Given the description of an element on the screen output the (x, y) to click on. 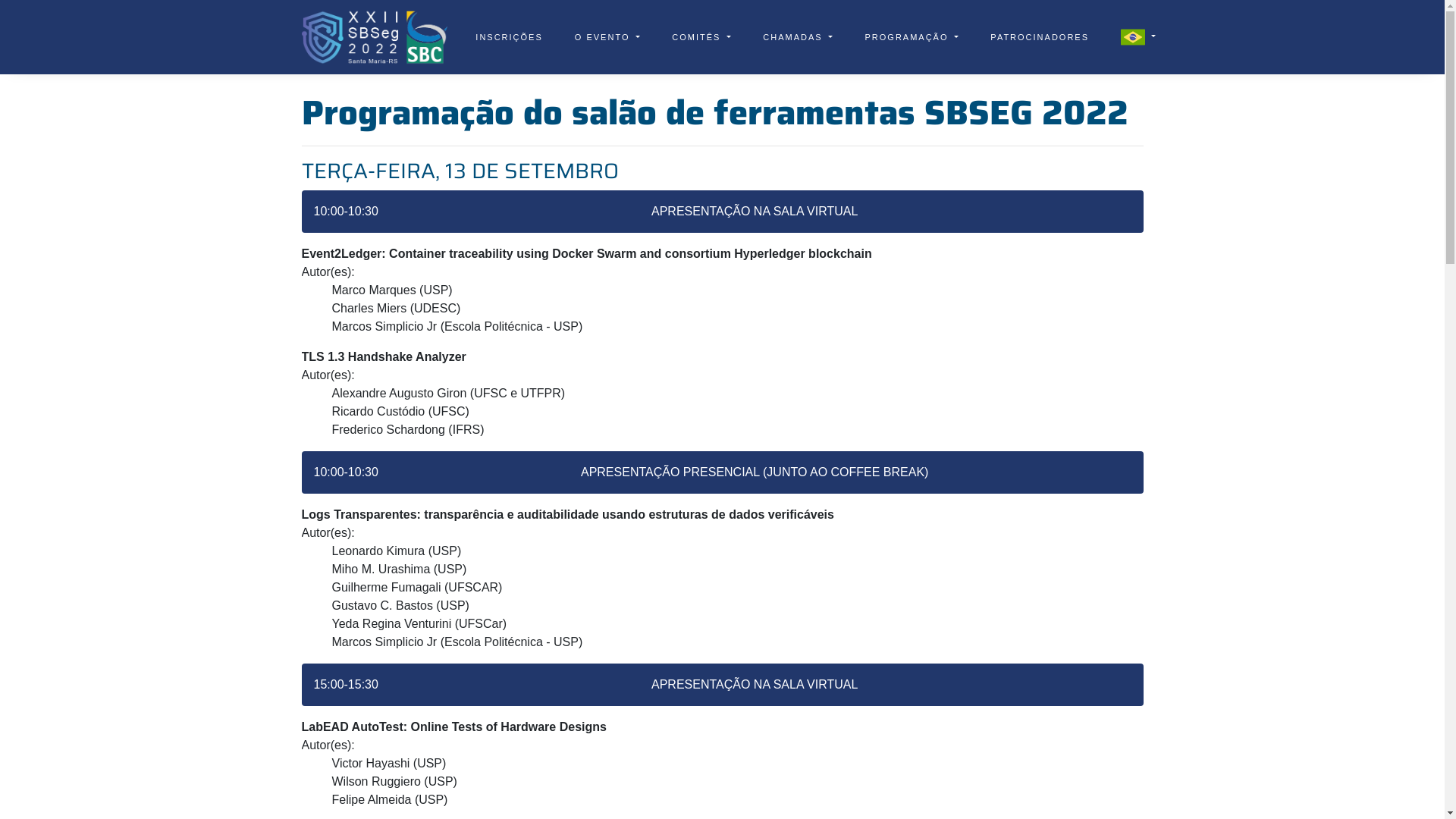
CHAMADAS Element type: text (797, 37)
O EVENTO Element type: text (607, 37)
PATROCINADORES Element type: text (1039, 37)
